Given the description of an element on the screen output the (x, y) to click on. 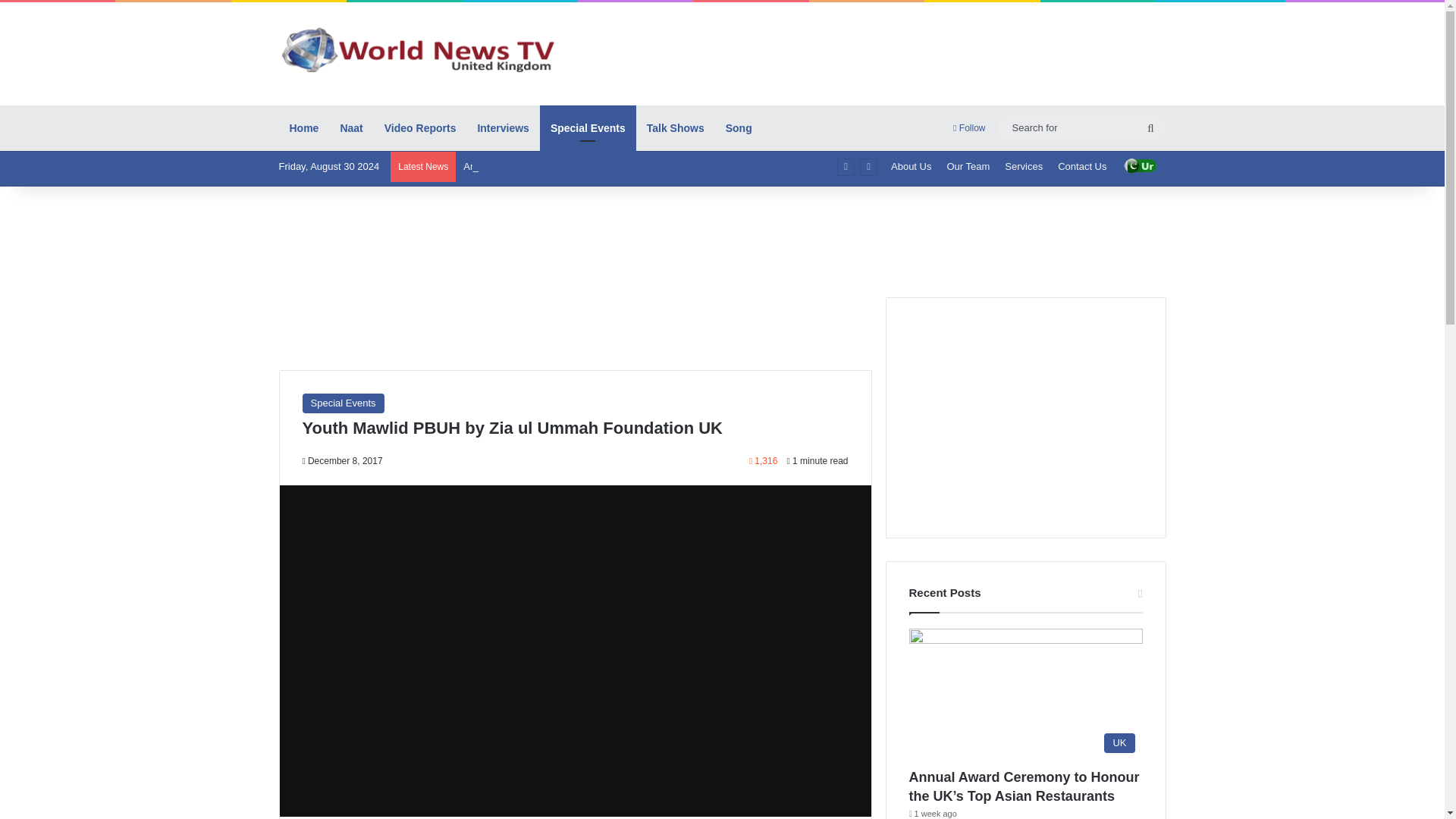
Home (304, 127)
About Us (911, 166)
Talk Shows (675, 127)
Interviews (501, 127)
Video Reports (420, 127)
Our Team (968, 166)
Search for (1080, 127)
Contact Us (1081, 166)
Special Events (588, 127)
